Given the description of an element on the screen output the (x, y) to click on. 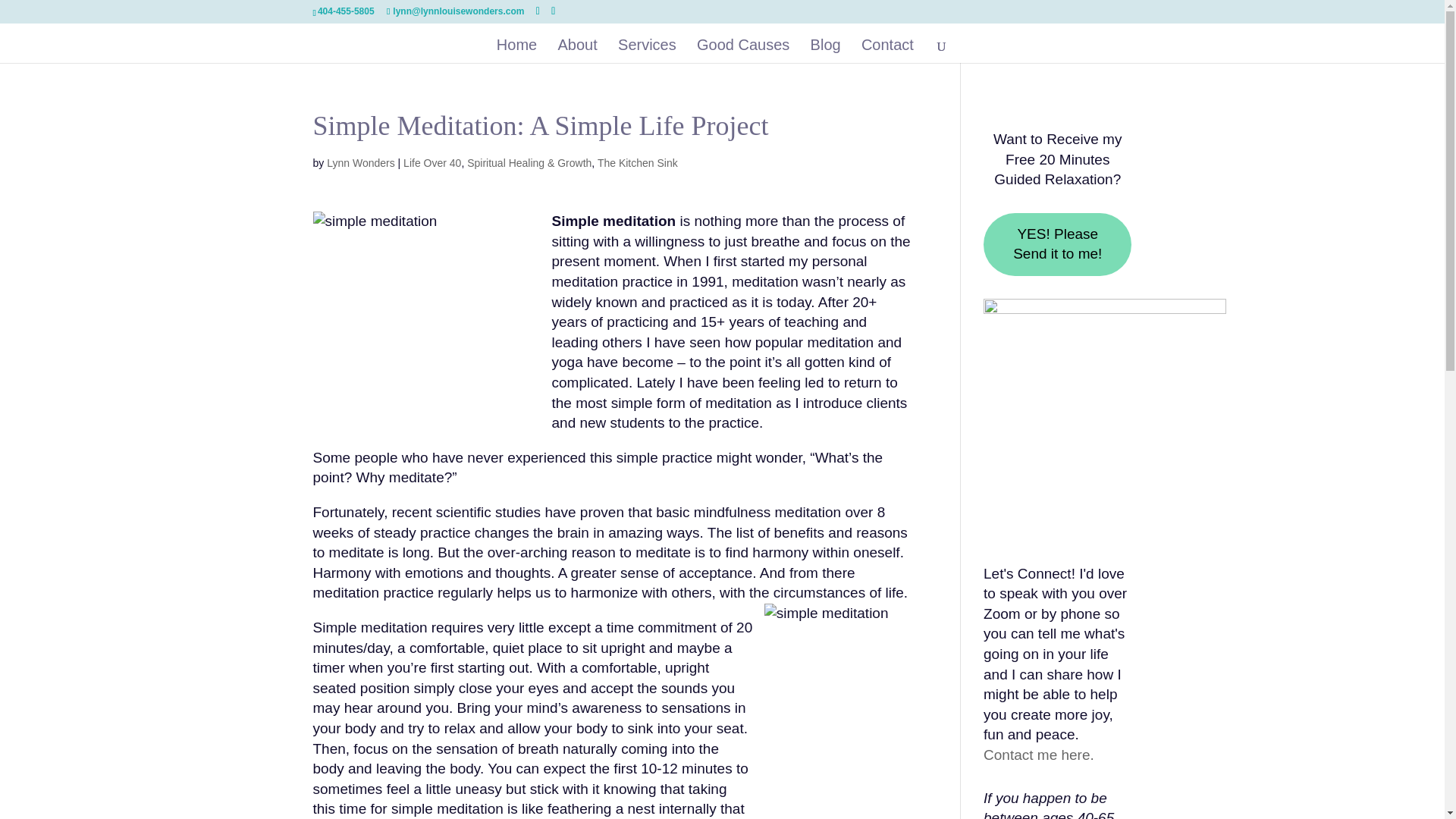
The Kitchen Sink (637, 162)
Life Over 40 (432, 162)
Services (647, 51)
Contact me here. (1039, 754)
Home (516, 51)
About (576, 51)
Good Causes (743, 51)
Blog (825, 51)
Posts by Lynn Wonders (360, 162)
Contact (887, 51)
